Given the description of an element on the screen output the (x, y) to click on. 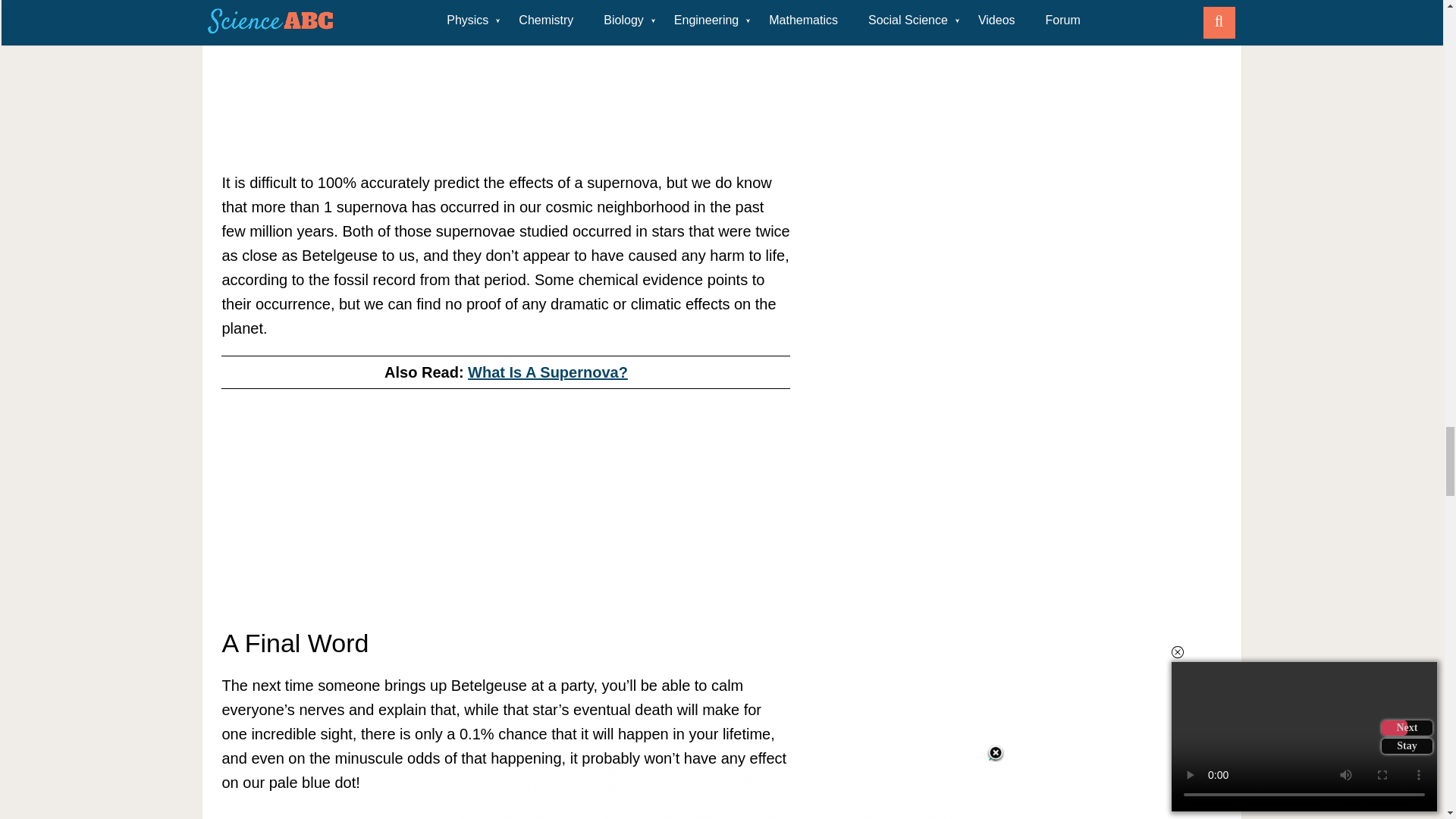
What Is A Supernova? (547, 371)
